Given the description of an element on the screen output the (x, y) to click on. 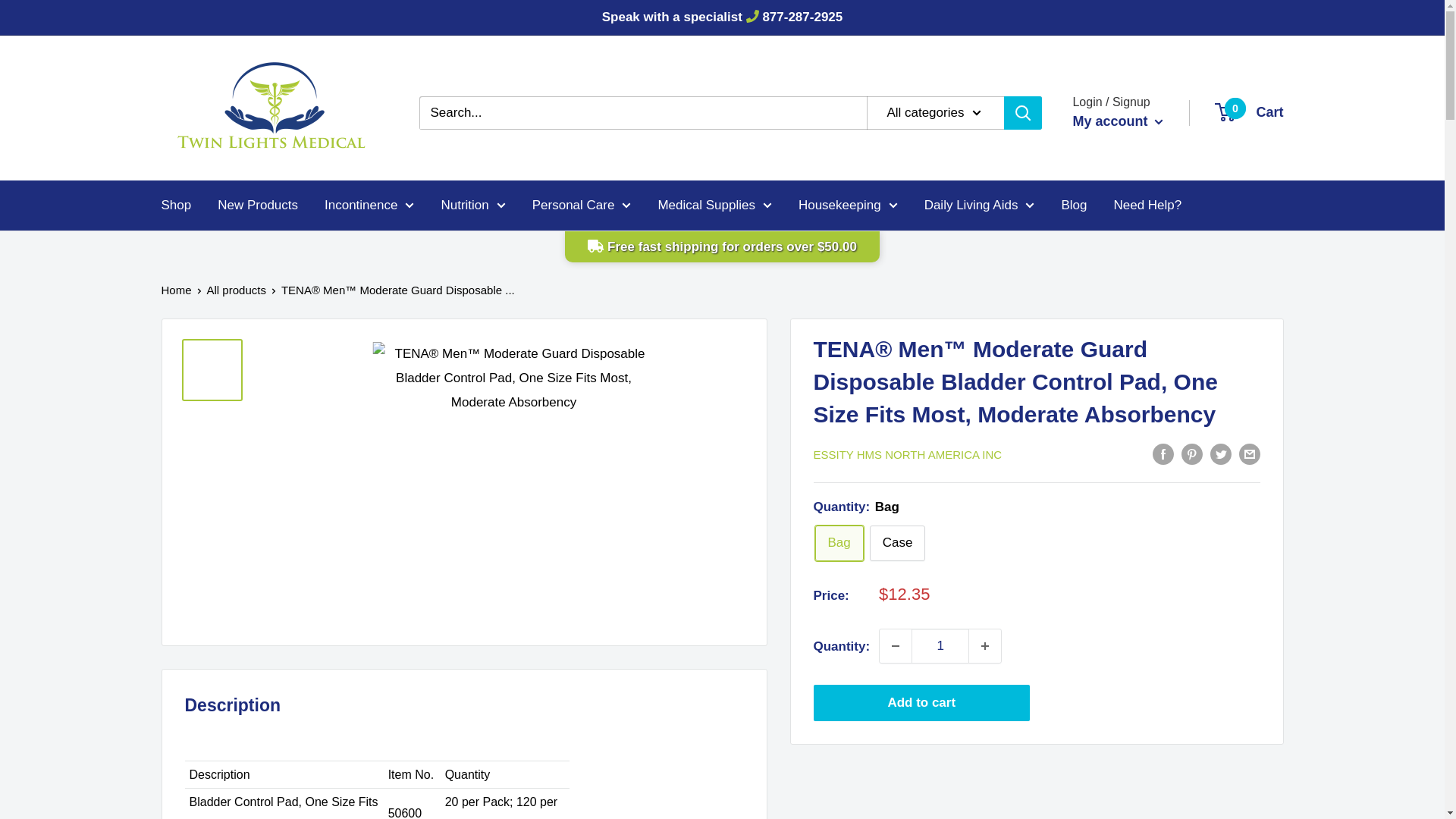
Decrease quantity by 1 (895, 645)
Case (897, 543)
Bag (838, 543)
Increase quantity by 1 (985, 645)
Speak with a specialist 877-287-2925 (722, 16)
1 (940, 645)
